Given the description of an element on the screen output the (x, y) to click on. 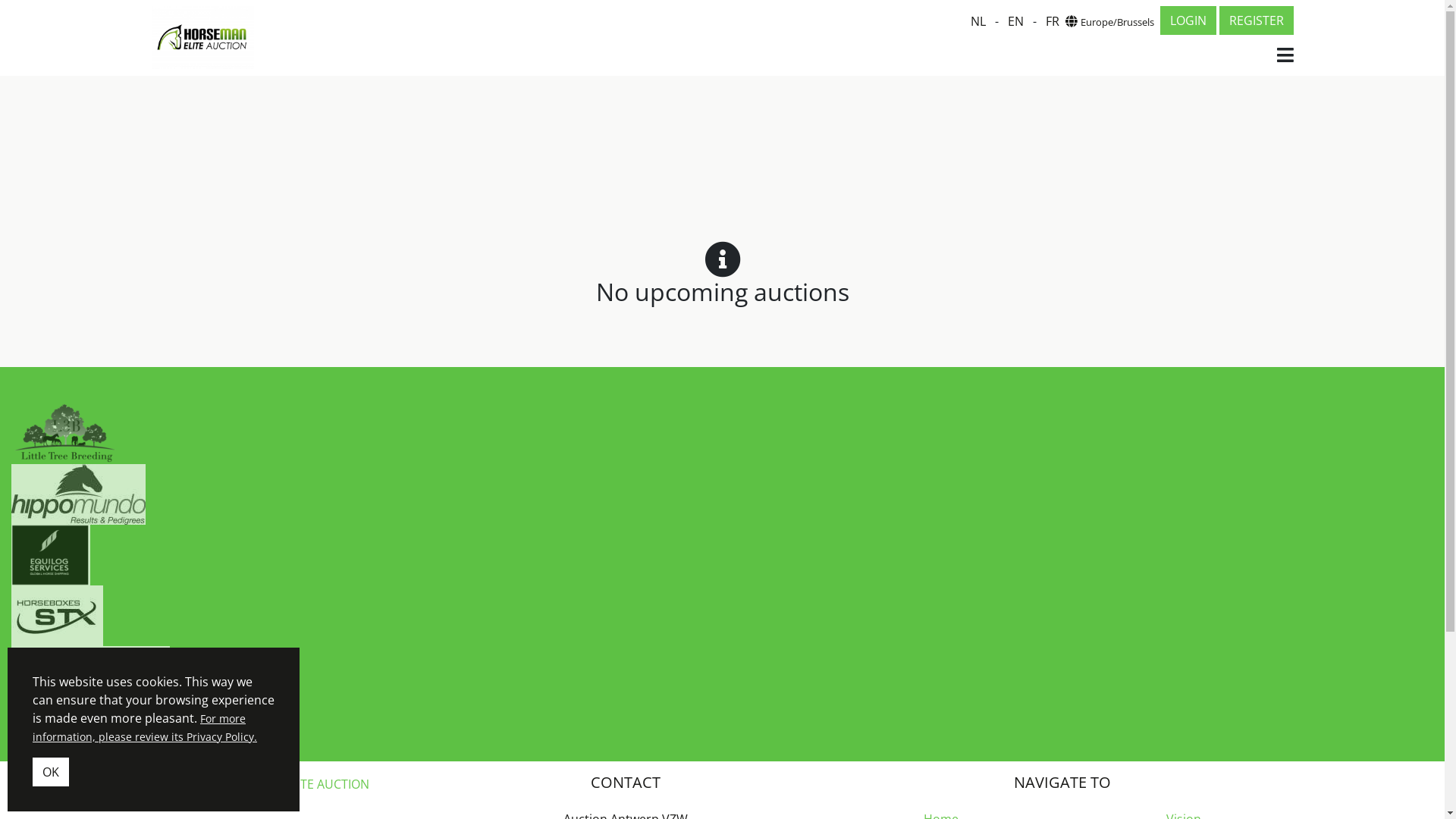
LOGIN Element type: text (1188, 20)
OK Element type: text (50, 771)
EN Element type: text (1014, 21)
REGISTER Element type: text (1256, 20)
FR Element type: text (1051, 21)
For more information, please review its Privacy Policy. Element type: text (144, 727)
Europe/Brussels Element type: text (1108, 21)
NL Element type: text (977, 21)
